Given the description of an element on the screen output the (x, y) to click on. 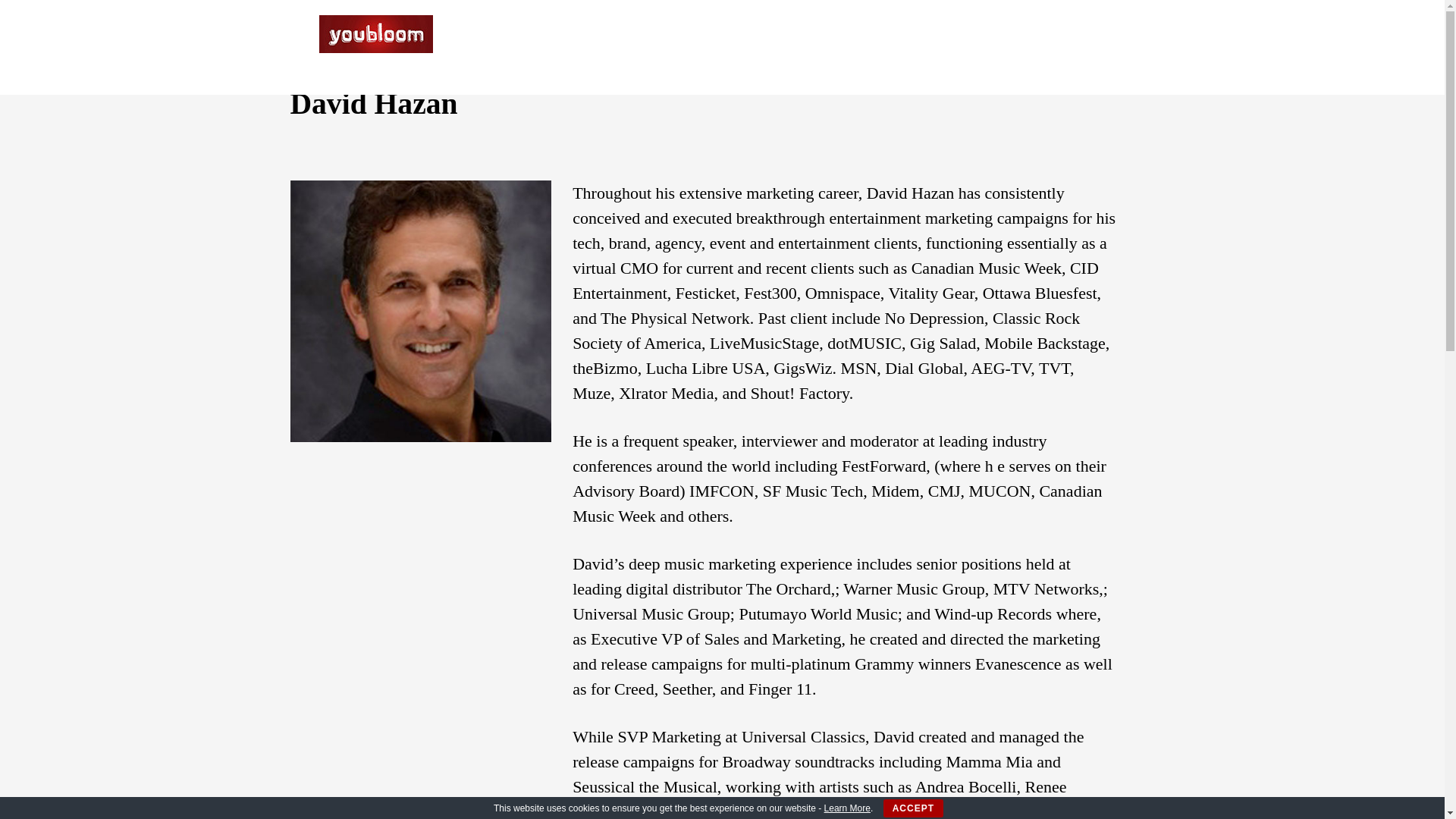
SHOWS (735, 49)
SHOW CREATORS (961, 49)
ACCEPT (913, 808)
YOUBLOOM (375, 52)
ARTISTS (856, 49)
FANS (794, 49)
Learn More (847, 808)
